Given the description of an element on the screen output the (x, y) to click on. 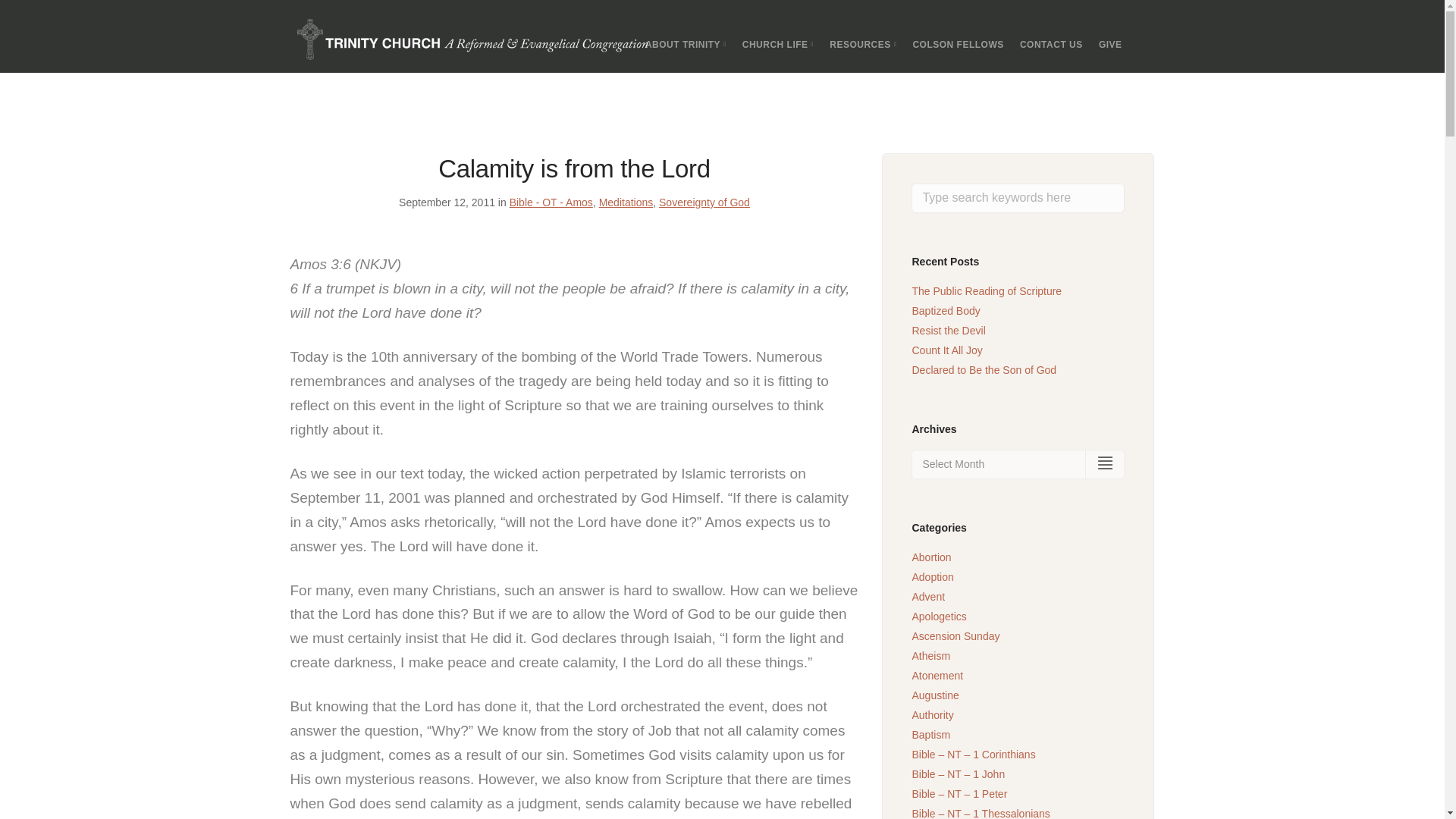
CHURCH LIFE (777, 44)
Advent (927, 596)
Baptized Body (945, 310)
Count It All Joy (946, 349)
Sovereignty of God (704, 202)
Abortion (930, 557)
RESOURCES (862, 44)
ABOUT TRINITY (685, 44)
COLSON FELLOWS (957, 44)
Adoption (932, 576)
